Given the description of an element on the screen output the (x, y) to click on. 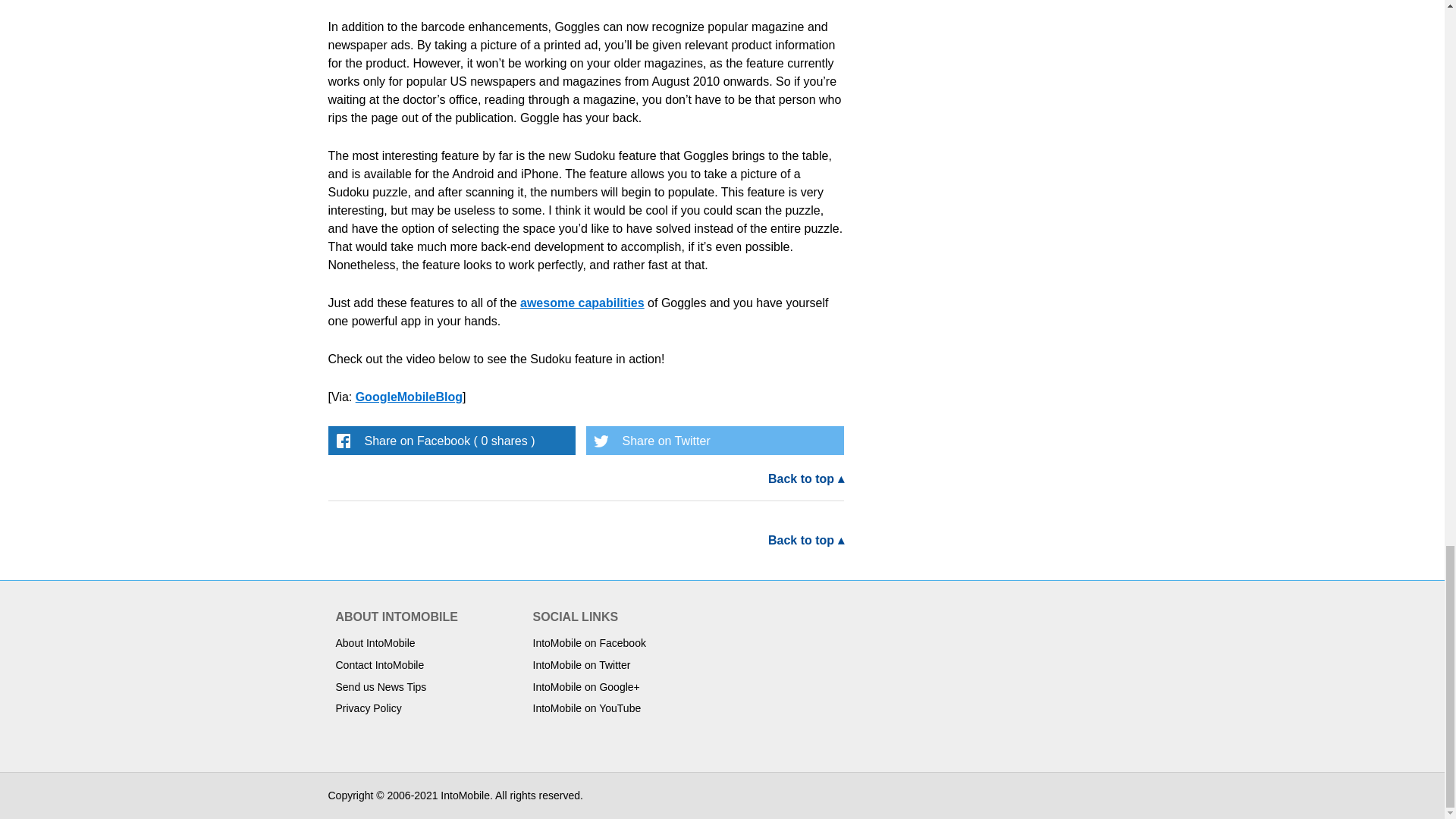
GoogleMobileBlog (409, 396)
Share on Twitter (714, 440)
Share on Twitter (714, 440)
awesome capabilities (582, 302)
